Given the description of an element on the screen output the (x, y) to click on. 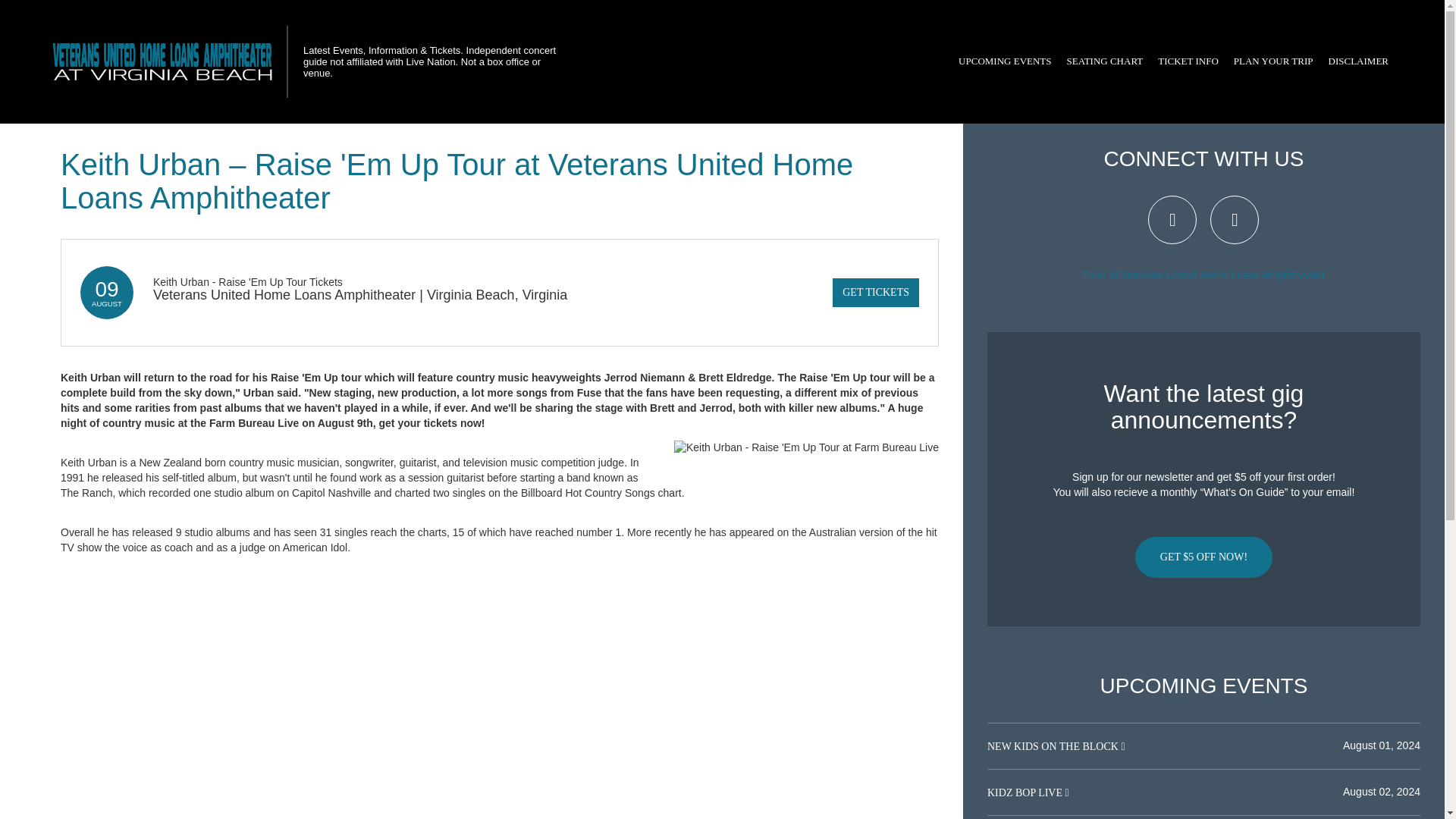
UPCOMING EVENTS (1004, 61)
NEW KIDS ON THE BLOCK (1054, 746)
TICKET INFO (1187, 61)
GET TICKETS (875, 292)
KIDZ BOP LIVE (1026, 792)
DISCLAIMER (1358, 61)
SEATING CHART (1105, 61)
Keith Urban - Raise 'Em Up Tour at Farm Bureau Live (806, 447)
Fans of Veterans United Home Loans Amphitheater (1203, 275)
Keith Urban - Raise 'Em Up Tour Tickets (247, 282)
PLAN YOUR TRIP (1272, 61)
